Given the description of an element on the screen output the (x, y) to click on. 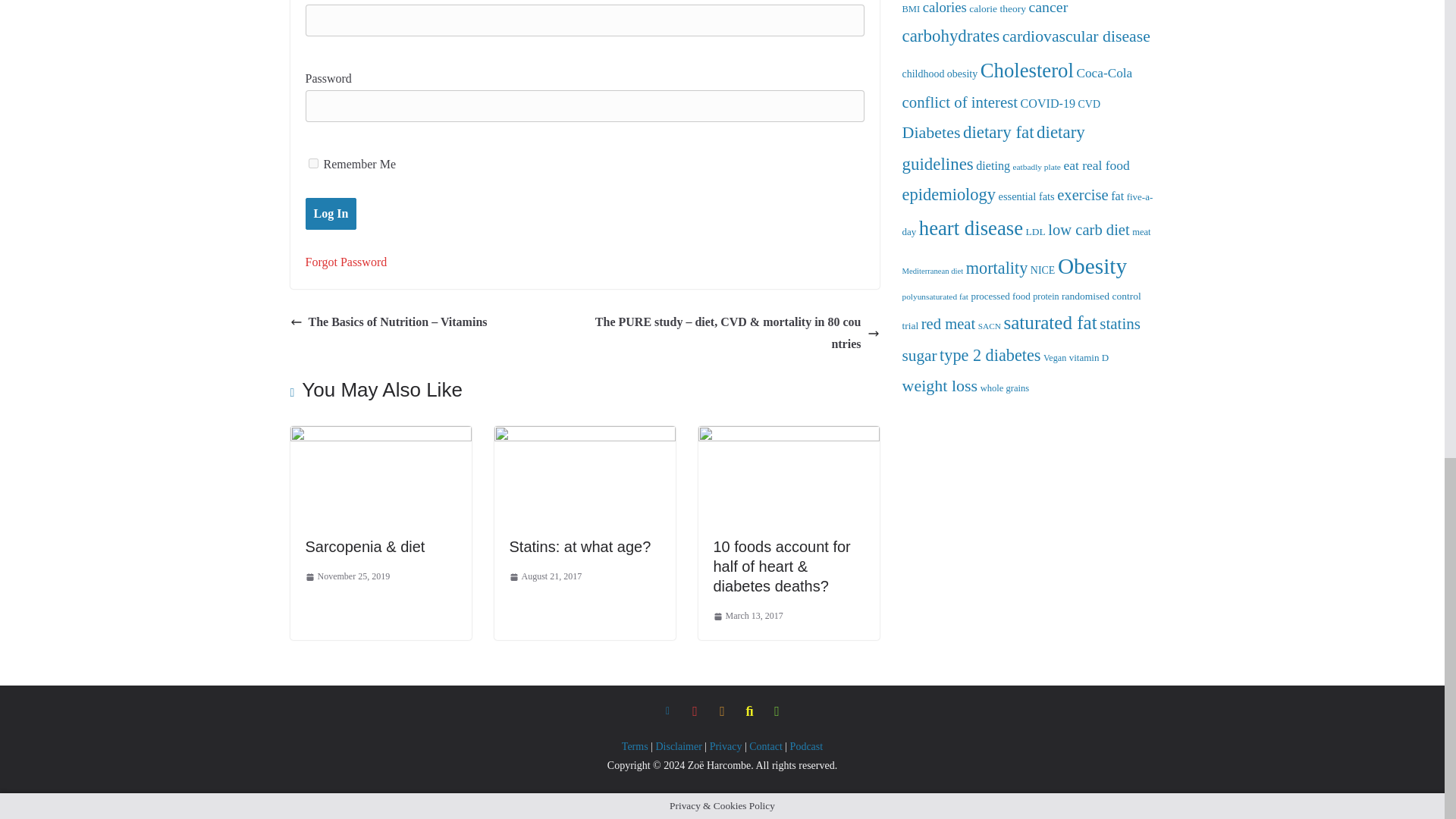
forever (312, 163)
Statins: at what age? (585, 436)
10:45 am (748, 616)
10:45 am (545, 576)
Log In (330, 214)
Statins: at what age? (579, 546)
11:29 am (347, 576)
